Given the description of an element on the screen output the (x, y) to click on. 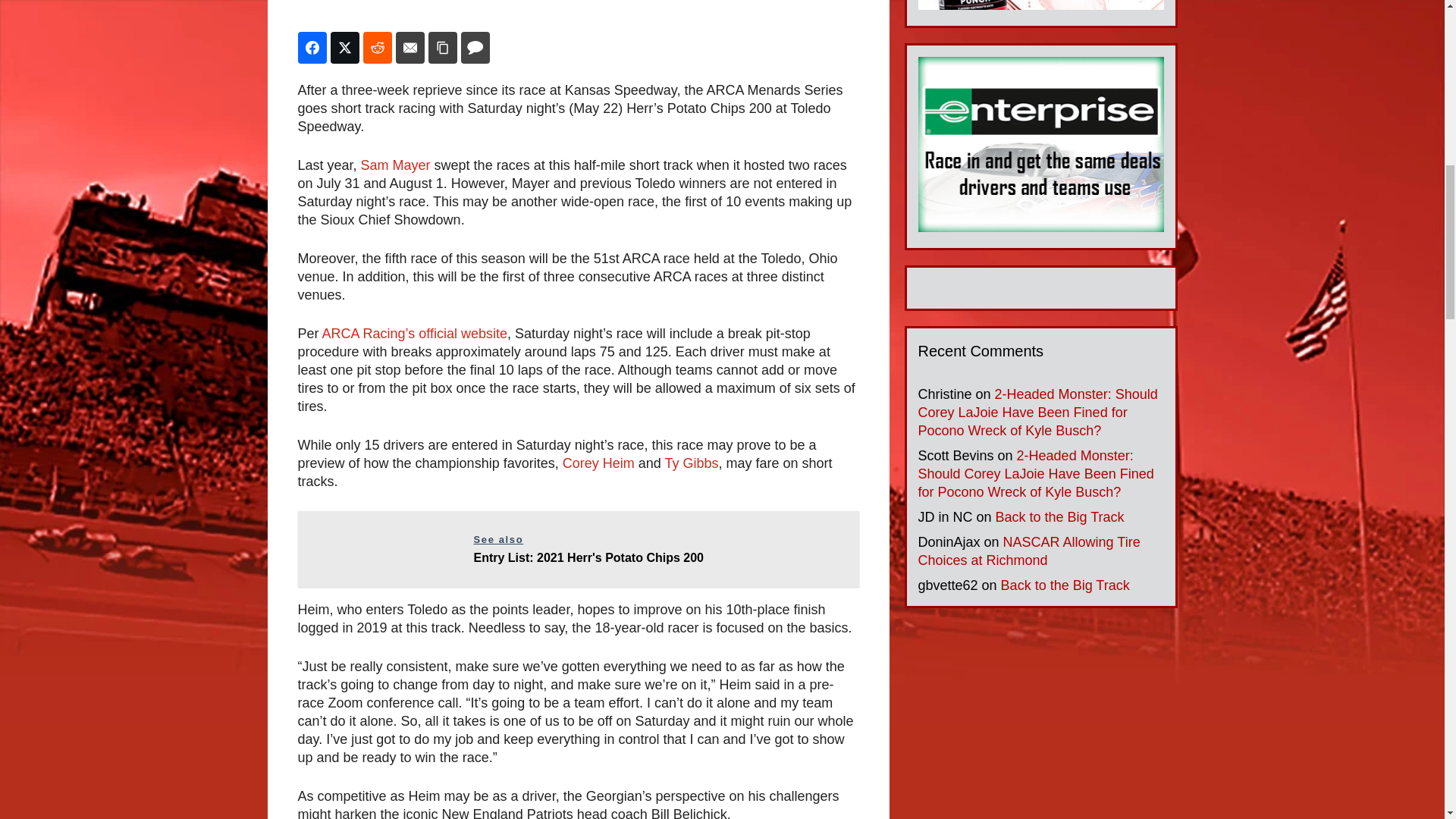
Share on Copy Link (442, 47)
Corey Heim (598, 462)
Share on Comments (475, 47)
Share on Reddit (376, 47)
Share on Facebook (578, 549)
Ty Gibbs (311, 47)
Share on Twitter (690, 462)
Share on Email (344, 47)
Sam Mayer (410, 47)
